Given the description of an element on the screen output the (x, y) to click on. 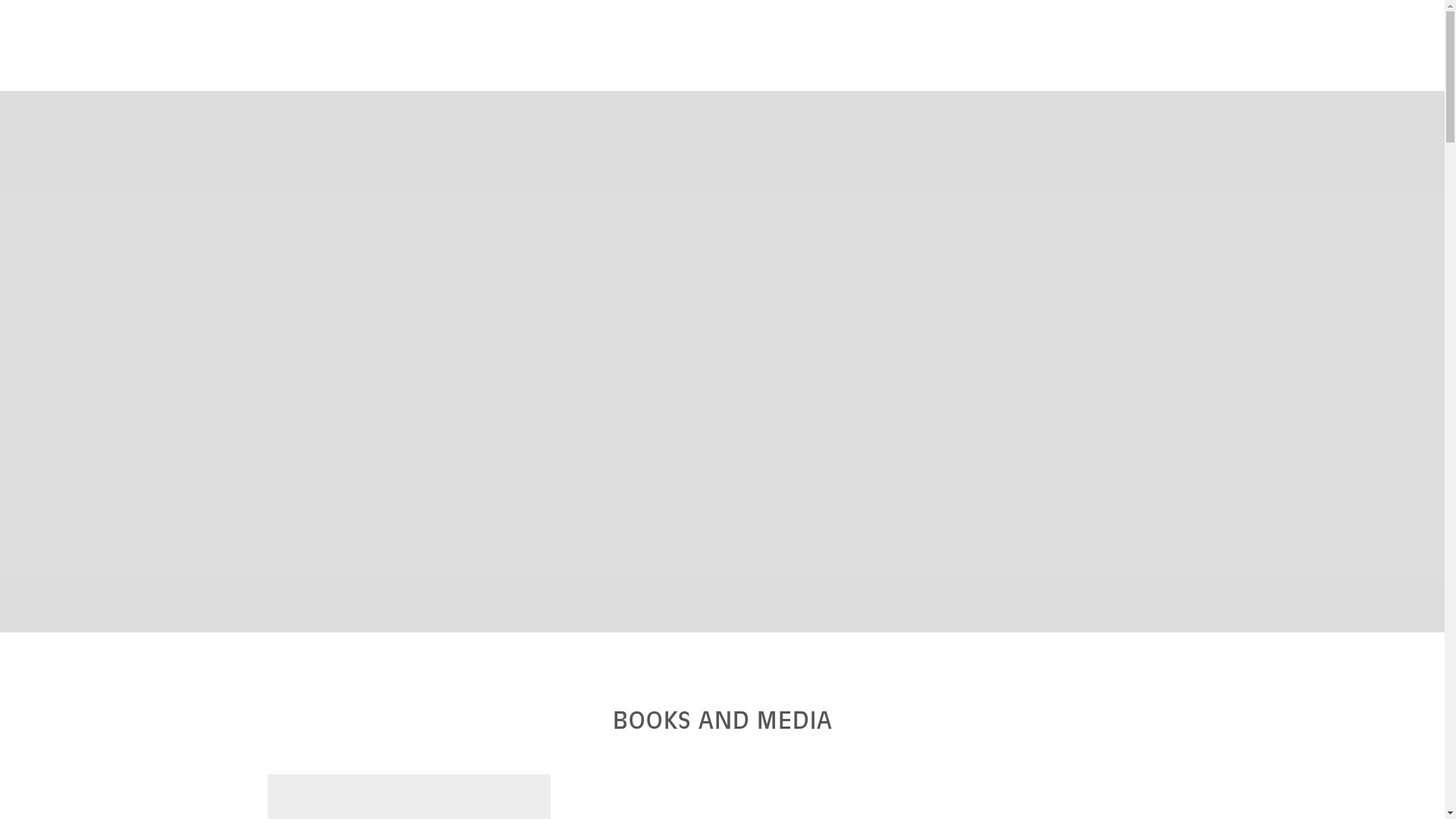
BOOKS AND MEDIA Element type: text (722, 720)
Slide 1 Element type: text (691, 615)
Slide 2 Element type: text (706, 615)
Slide 4 Element type: text (737, 615)
Slide 3 Element type: text (721, 615)
Slide 5 Element type: text (752, 615)
